Given the description of an element on the screen output the (x, y) to click on. 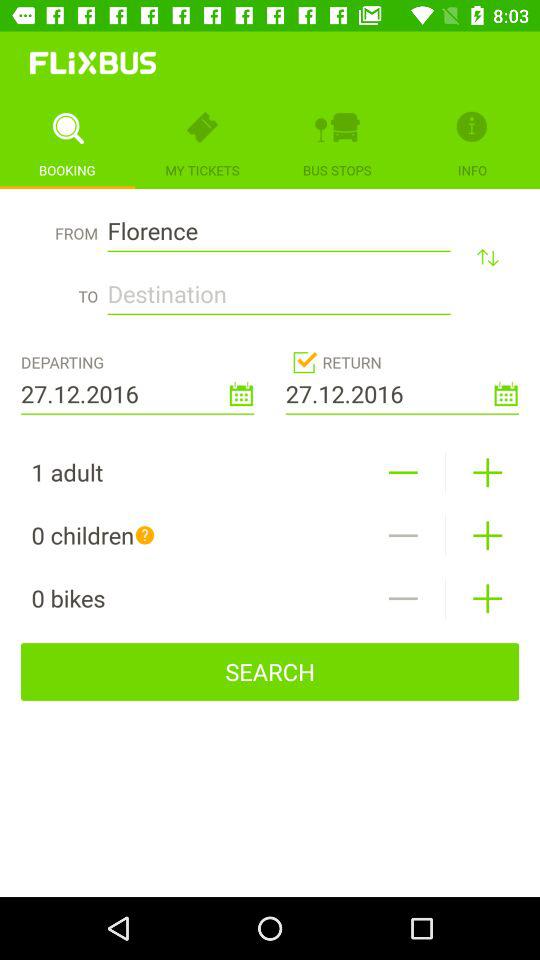
lower number of bikes (402, 598)
